Given the description of an element on the screen output the (x, y) to click on. 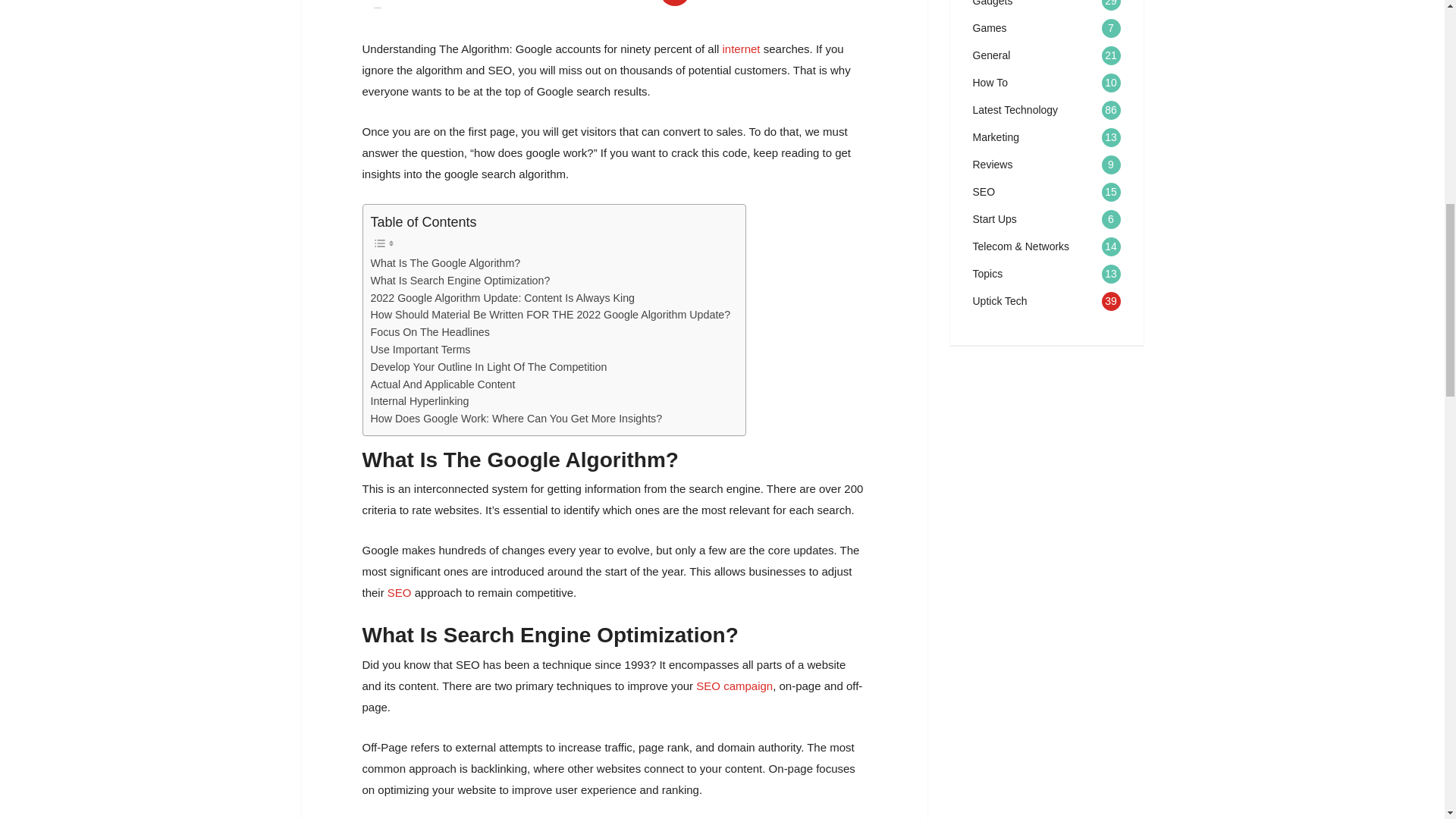
Develop Your Outline In Light Of The Competition (488, 366)
Actual And Applicable Content (442, 384)
2022 Google Algorithm Update: Content Is Always King (501, 298)
What Is Search Engine Optimization? (459, 280)
Develop Your Outline In Light Of The Competition (488, 366)
Internal Hyperlinking (418, 401)
internet (741, 48)
Actual And Applicable Content (442, 384)
2022 Google Algorithm Update: Content Is Always King (501, 298)
SEO campaign (734, 685)
What Is The Google Algorithm? (444, 262)
Use Important Terms (419, 349)
How Does Google Work: Where Can You Get More Insights? (515, 418)
